Given the description of an element on the screen output the (x, y) to click on. 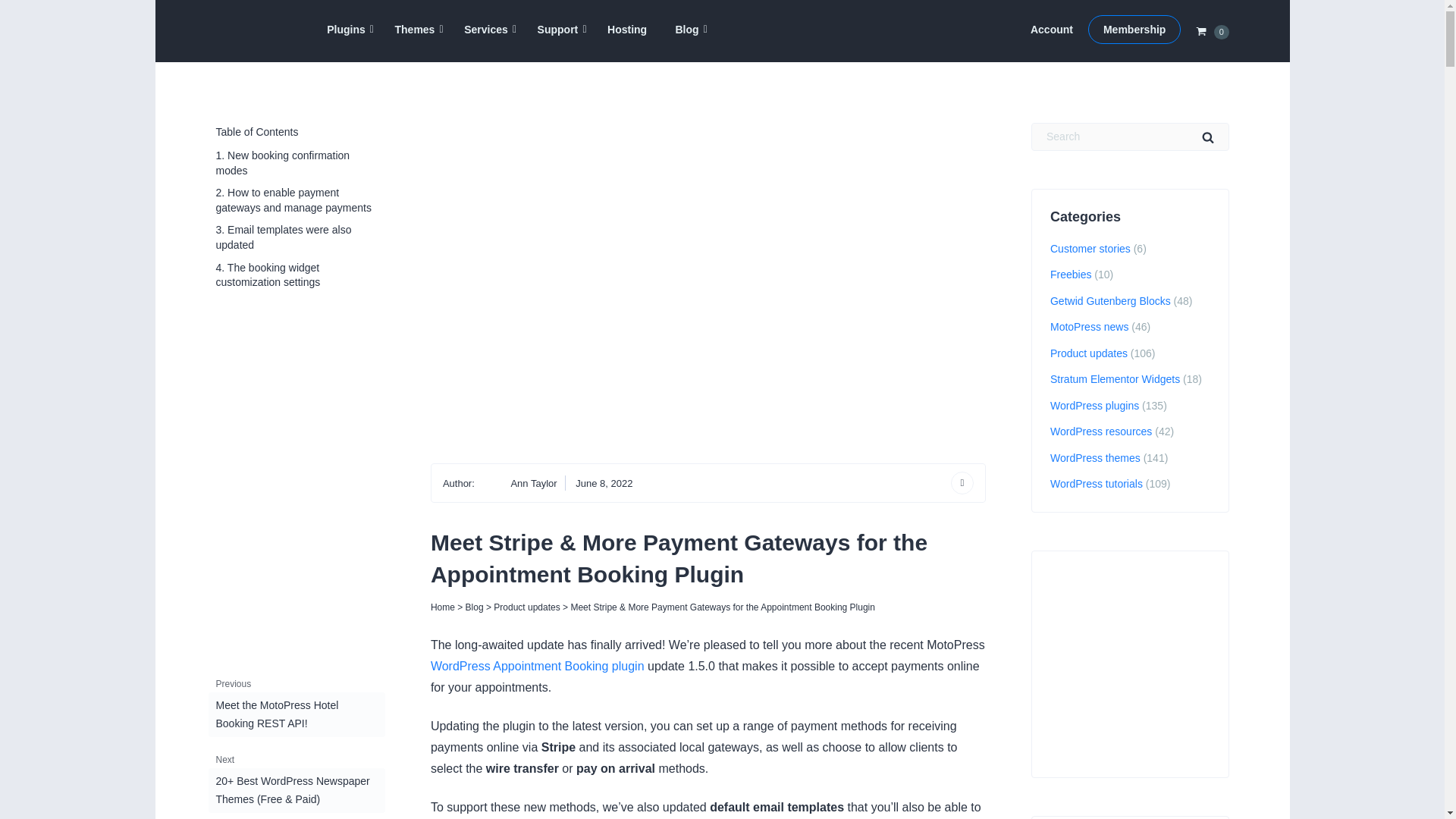
MotoPress (244, 51)
Themes (414, 29)
The booking widget customization settings (296, 275)
New booking confirmation modes (296, 162)
How to enable payment gateways and manage payments (296, 200)
WordPress Plugins (346, 29)
WordPress Themes (414, 29)
Plugins (346, 29)
Email templates were also updated (296, 237)
